Given the description of an element on the screen output the (x, y) to click on. 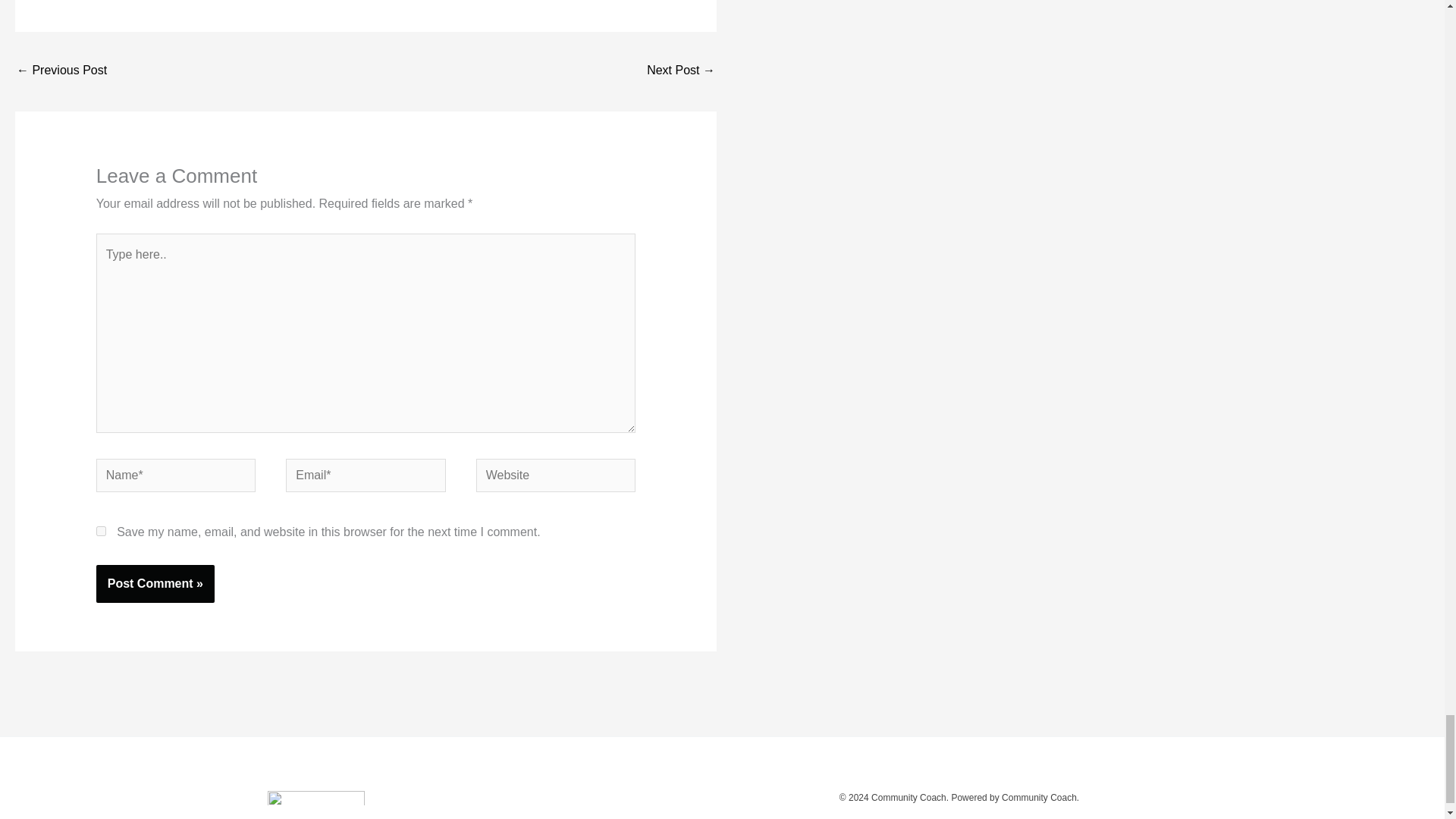
yes (101, 531)
How Reddit's Community Approach Boosted Web3 Adoption (61, 71)
